Given the description of an element on the screen output the (x, y) to click on. 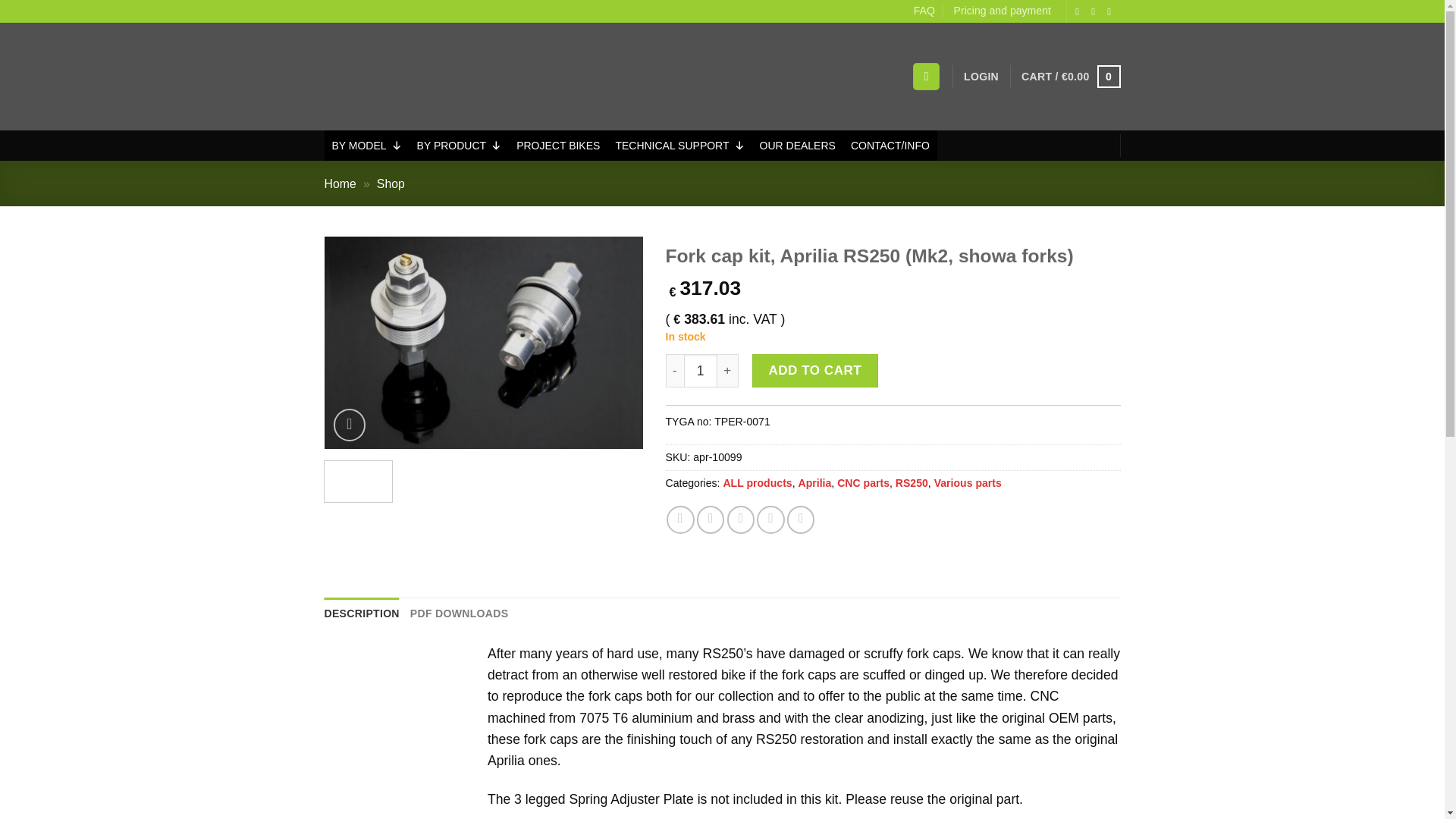
Pricing and payment (1002, 10)
Share on Facebook (680, 519)
1 (700, 370)
LOGIN (980, 76)
Zoom (349, 424)
Login (980, 76)
Cart (1070, 76)
BY MODEL (366, 145)
FAQ (924, 10)
